Given the description of an element on the screen output the (x, y) to click on. 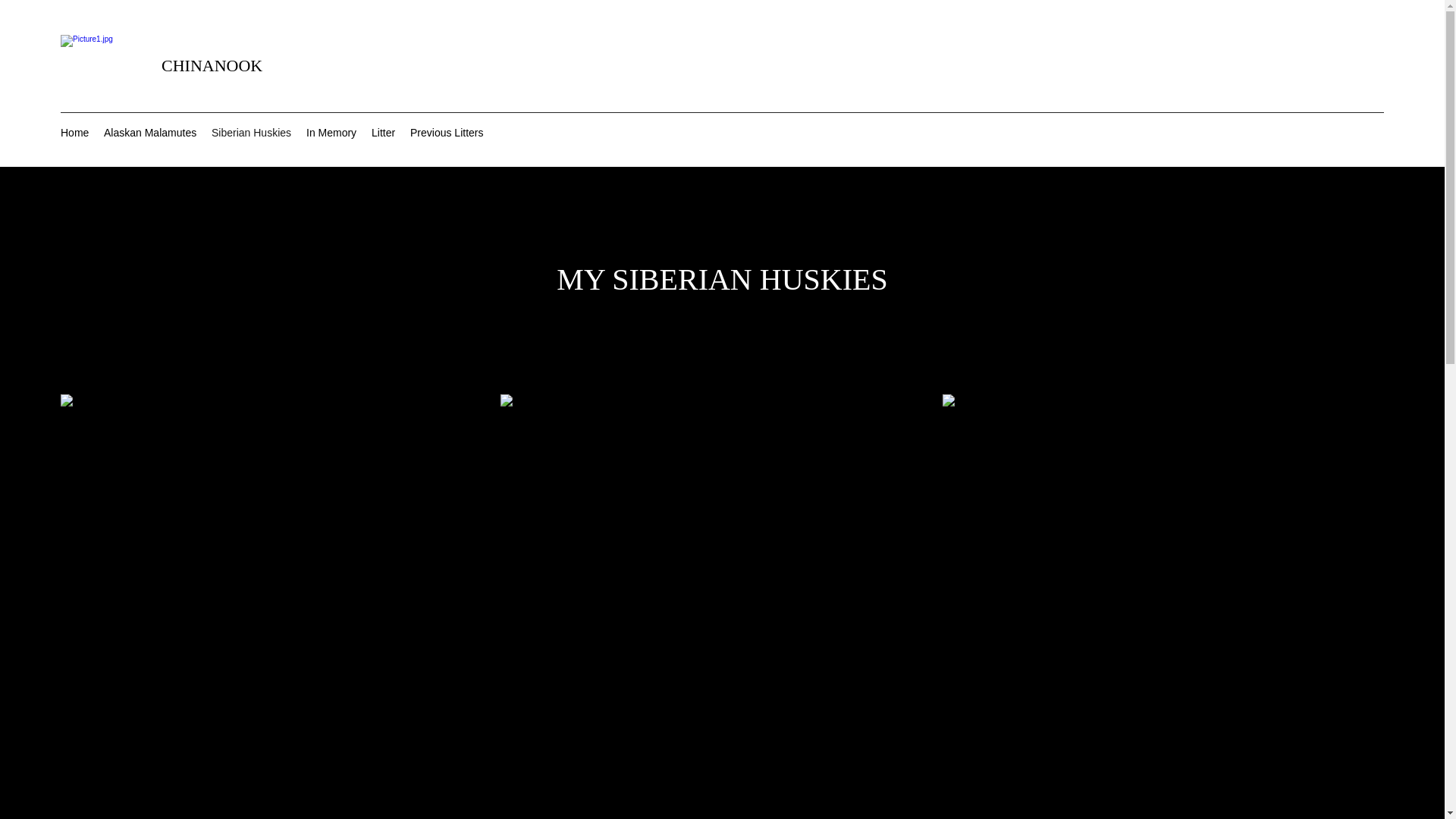
Siberian Huskies Element type: text (250, 132)
Alaskan Malamutes Element type: text (149, 132)
In Memory Element type: text (331, 132)
CHINANOOK Element type: text (211, 65)
Home Element type: text (74, 132)
Previous Litters Element type: text (446, 132)
Litter Element type: text (383, 132)
